Given the description of an element on the screen output the (x, y) to click on. 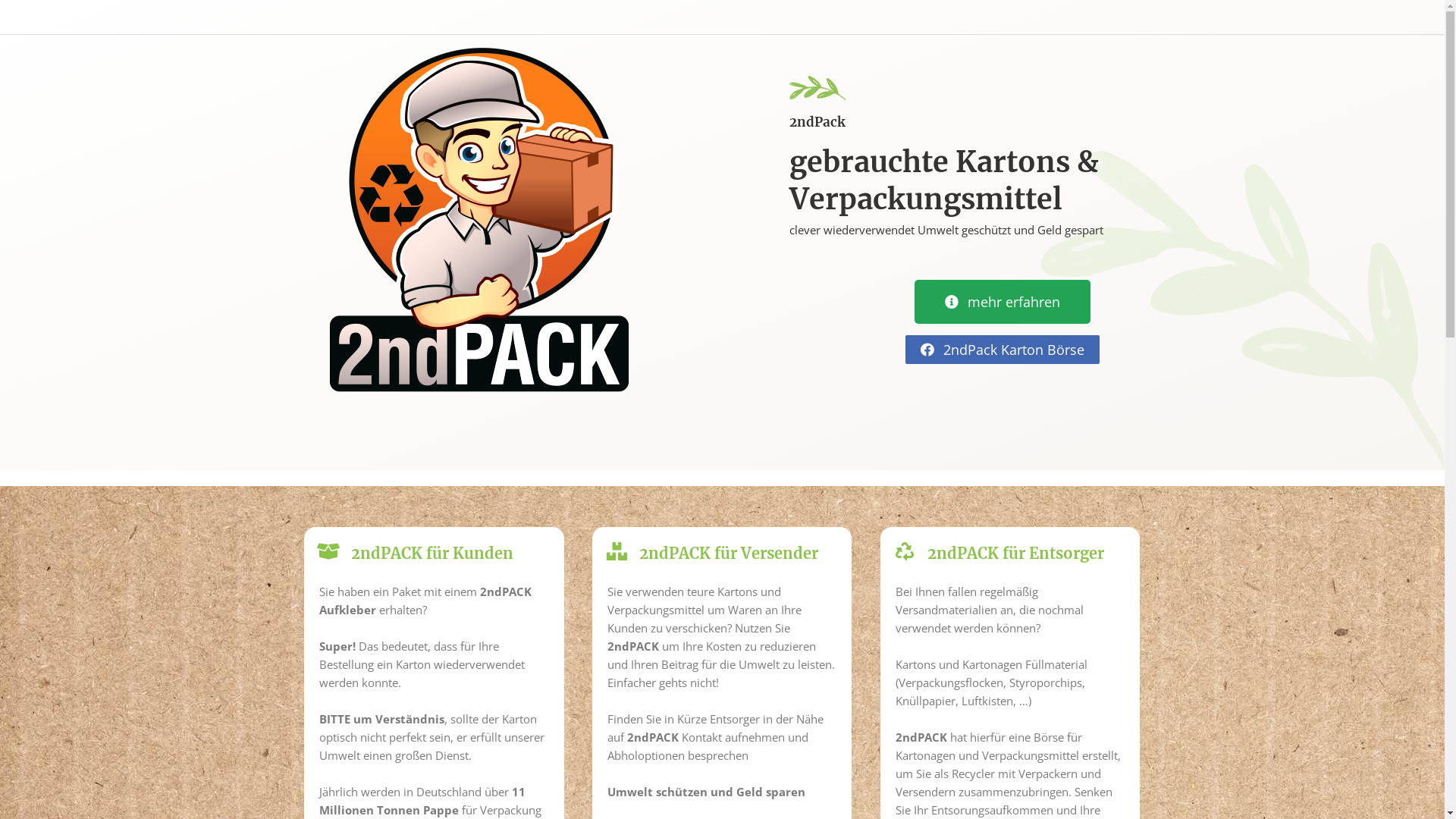
mehr erfahren Element type: text (1002, 301)
